Given the description of an element on the screen output the (x, y) to click on. 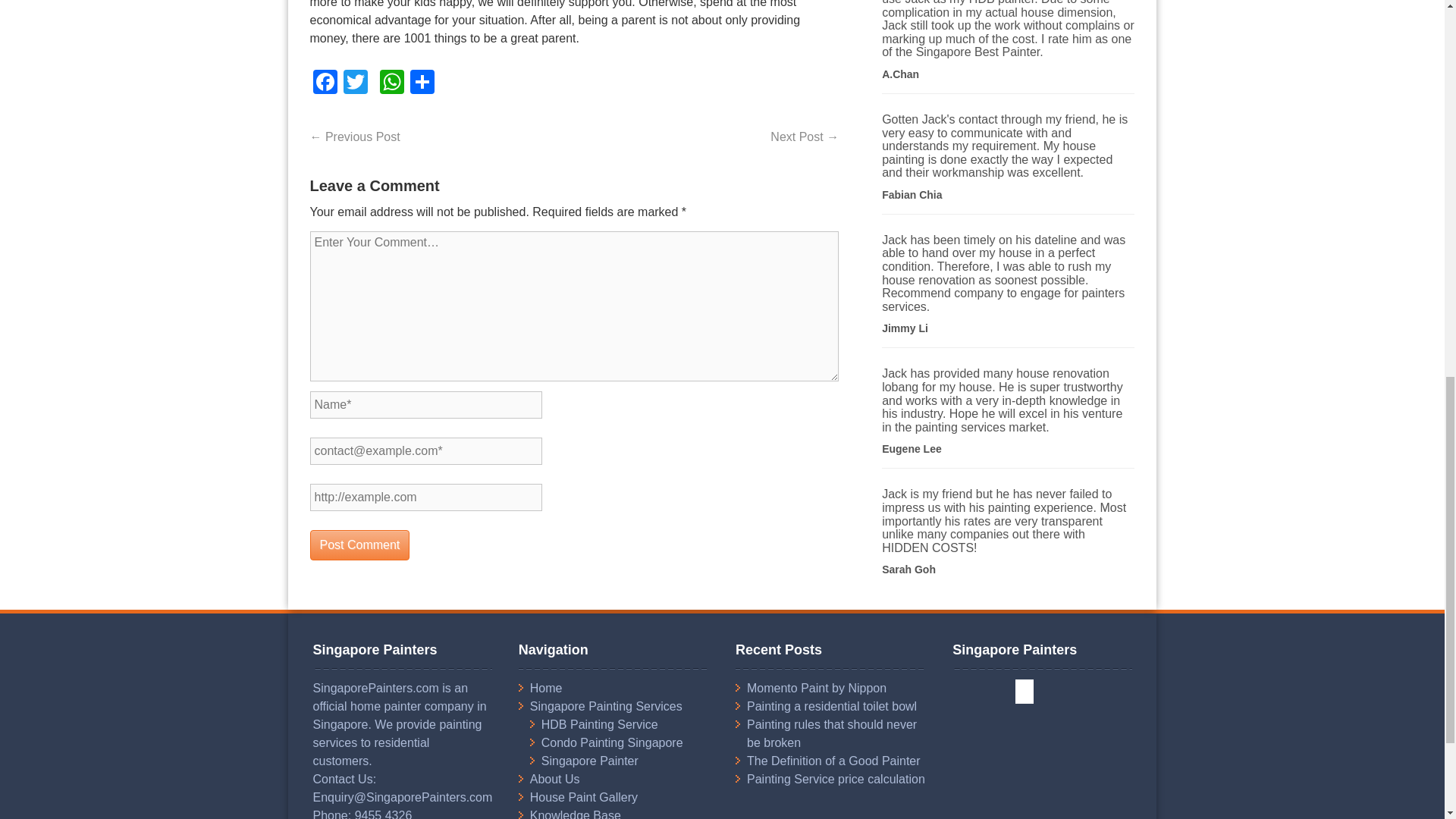
WhatsApp (390, 83)
Post Comment (358, 544)
Share (421, 83)
Facebook (323, 83)
Facebook (323, 83)
WhatsApp (390, 83)
Twitter (354, 83)
Twitter (354, 83)
